Given the description of an element on the screen output the (x, y) to click on. 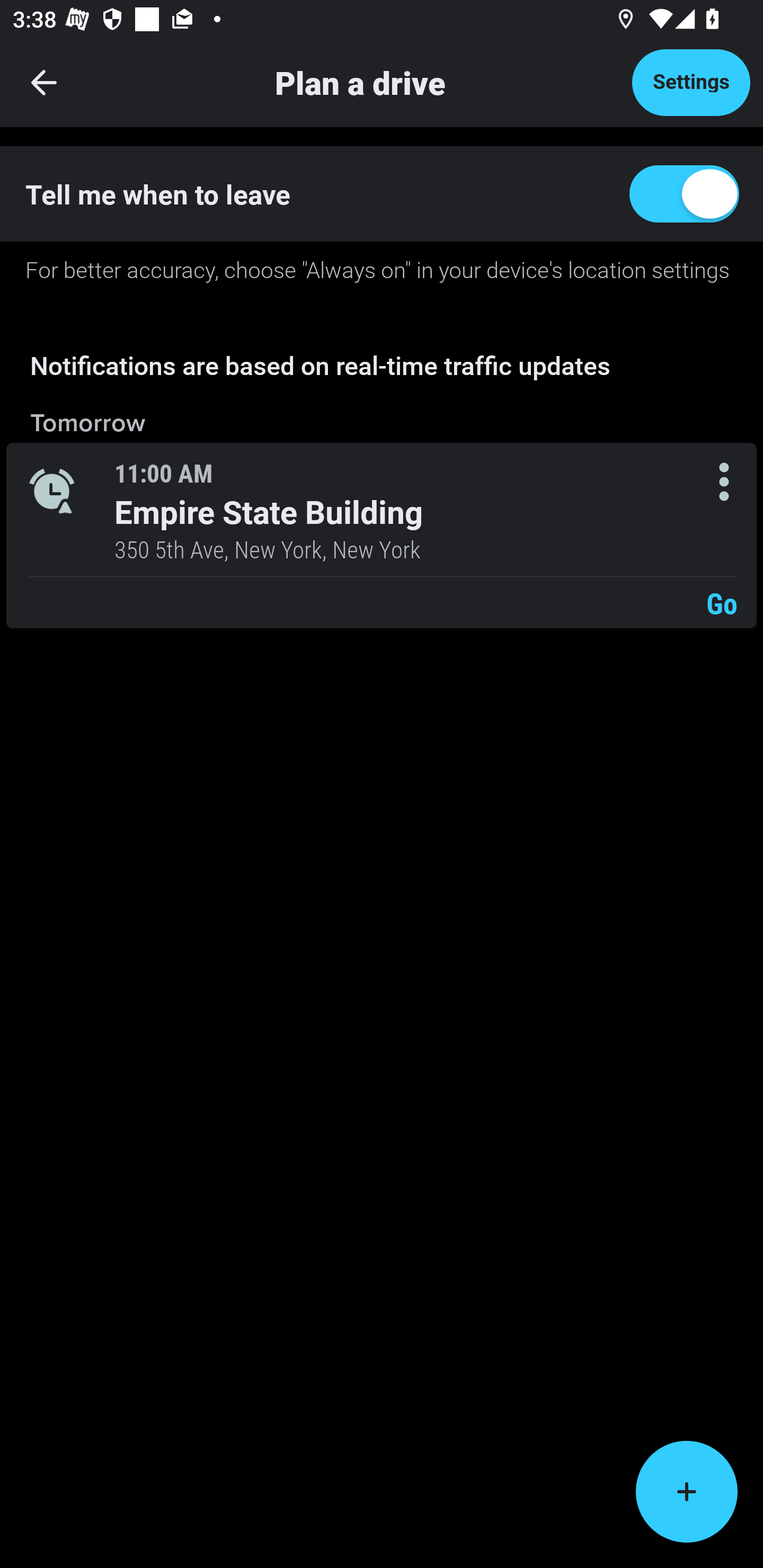
Settings (690, 82)
test View profile (381, 266)
